Given the description of an element on the screen output the (x, y) to click on. 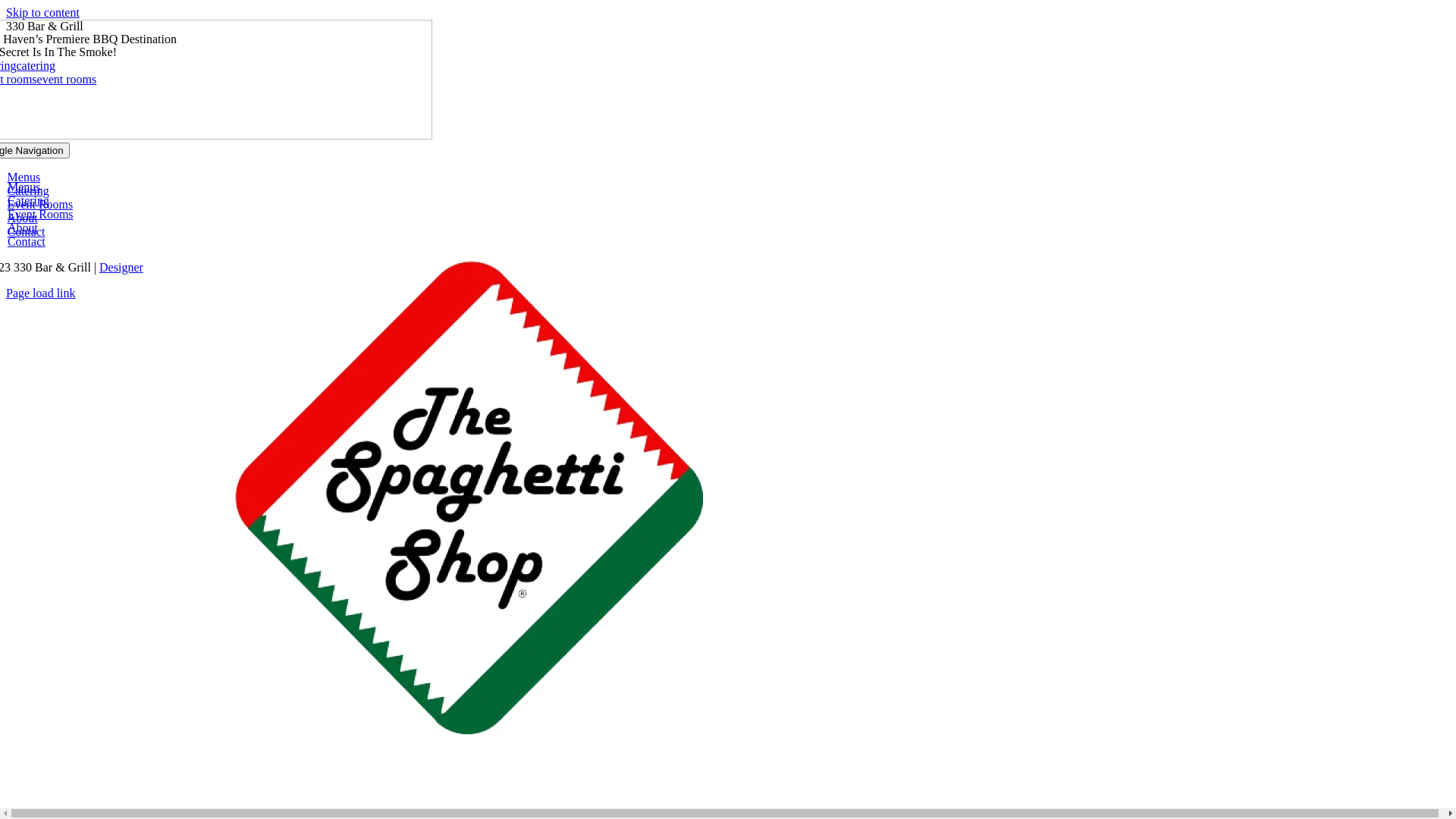
Event Rooms Element type: text (40, 203)
Skip to content Element type: text (42, 12)
Contact Element type: text (26, 231)
Catering Element type: text (28, 190)
Catering Element type: text (28, 200)
Menus Element type: text (23, 186)
Page load link Element type: text (40, 292)
Menus Element type: text (23, 176)
Event Rooms Element type: text (40, 213)
Contact Element type: text (26, 241)
Designer Element type: text (121, 266)
About Element type: text (22, 227)
About Element type: text (22, 217)
